Given the description of an element on the screen output the (x, y) to click on. 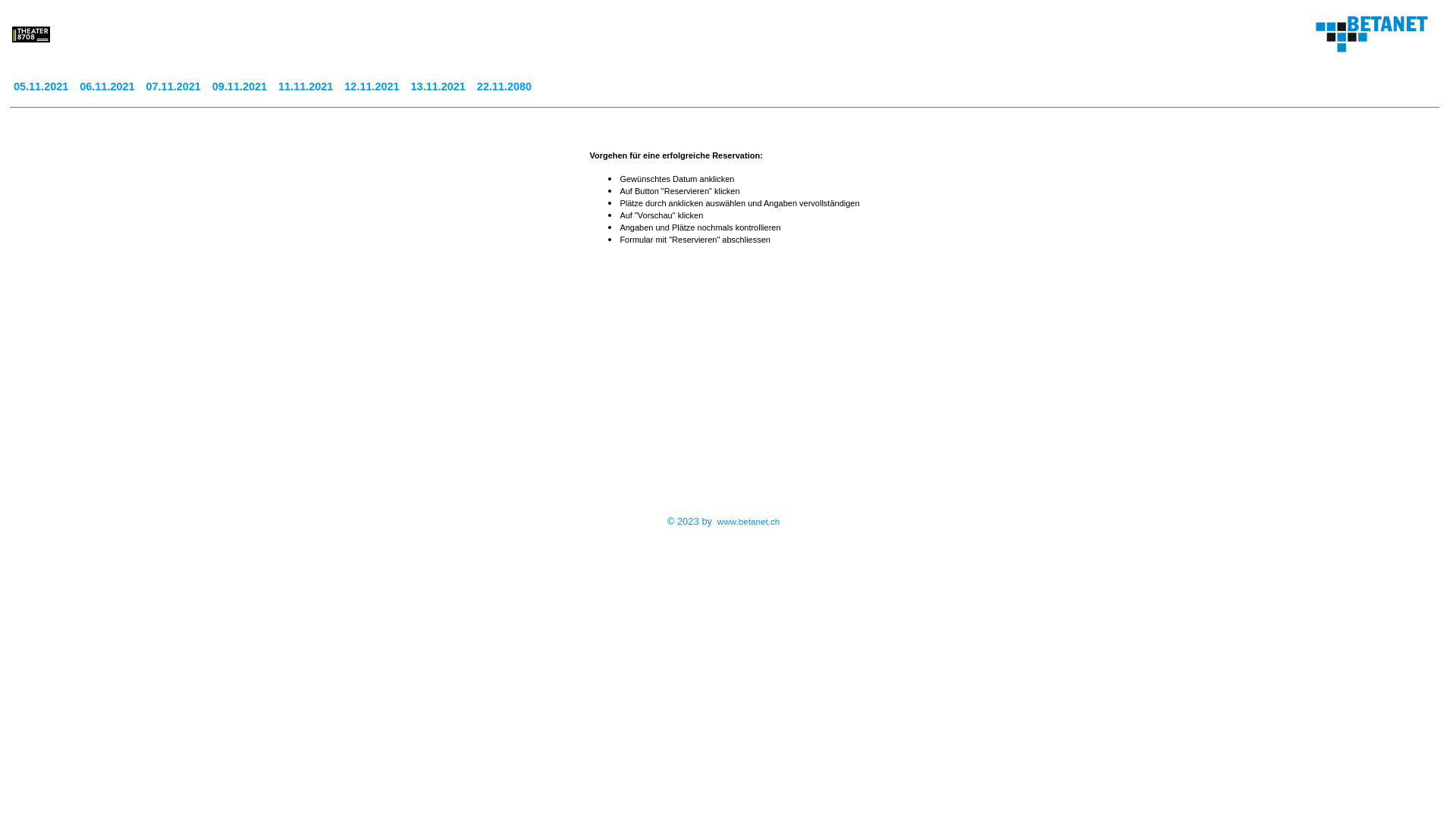
05.11.2021 Element type: text (42, 86)
www.betanet.ch Element type: text (748, 521)
22.11.2080 Element type: text (506, 86)
12.11.2021 Element type: text (373, 86)
07.11.2021 Element type: text (175, 86)
13.11.2021 Element type: text (440, 86)
06.11.2021 Element type: text (108, 86)
09.11.2021 Element type: text (241, 86)
11.11.2021 Element type: text (307, 86)
